Given the description of an element on the screen output the (x, y) to click on. 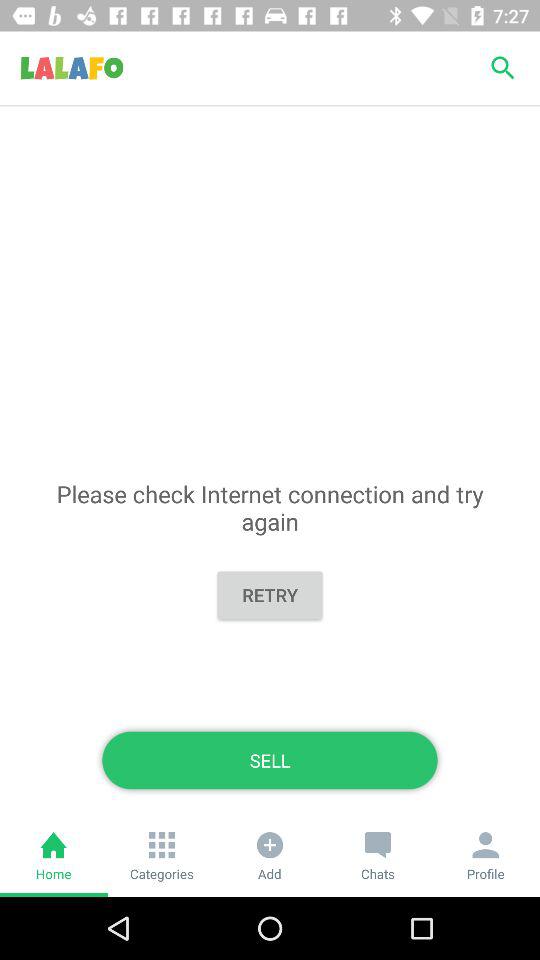
jump to the retry icon (269, 594)
